Given the description of an element on the screen output the (x, y) to click on. 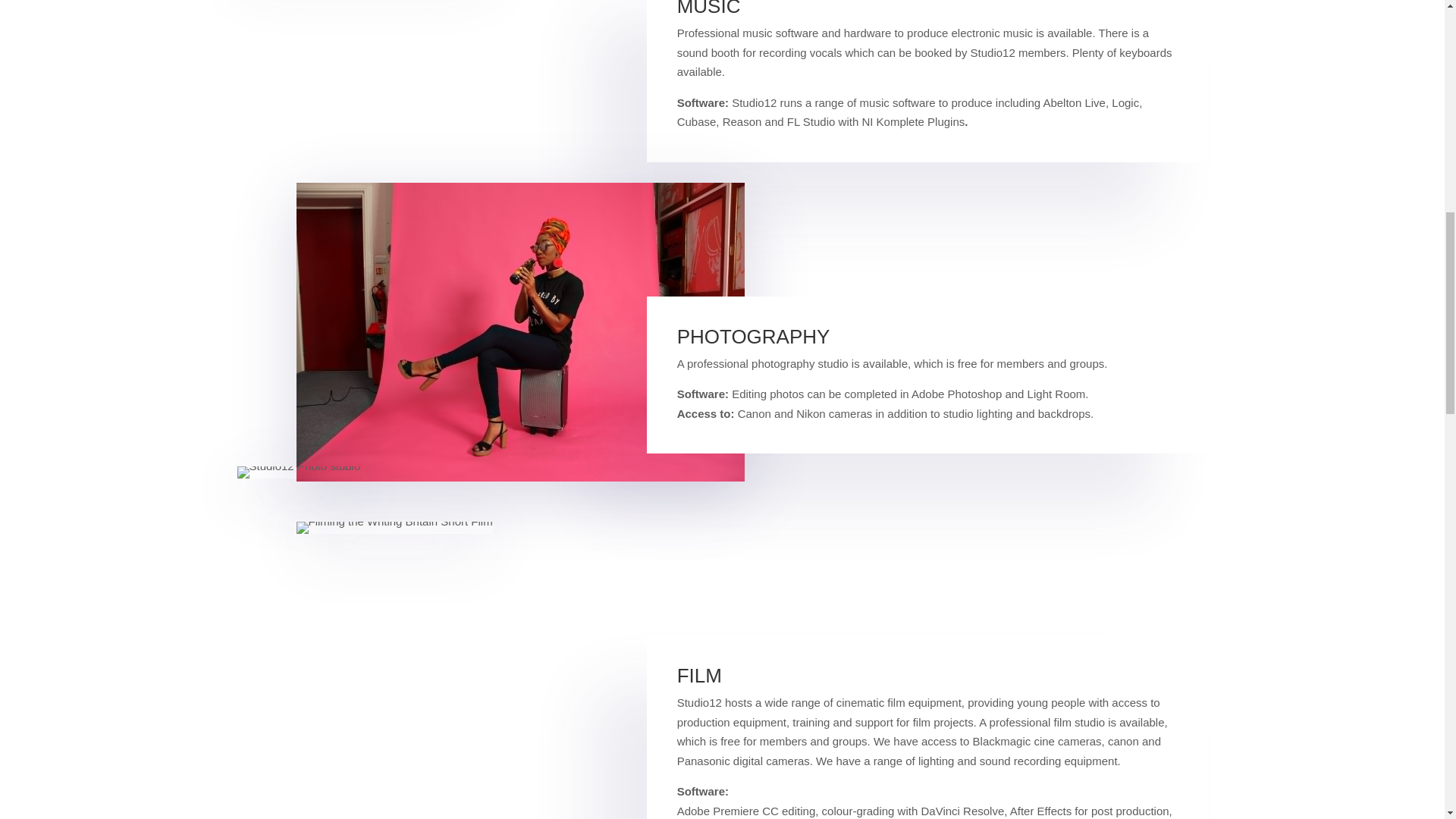
Page 4 (927, 65)
Page 4 (927, 742)
Page 4 (927, 375)
